Given the description of an element on the screen output the (x, y) to click on. 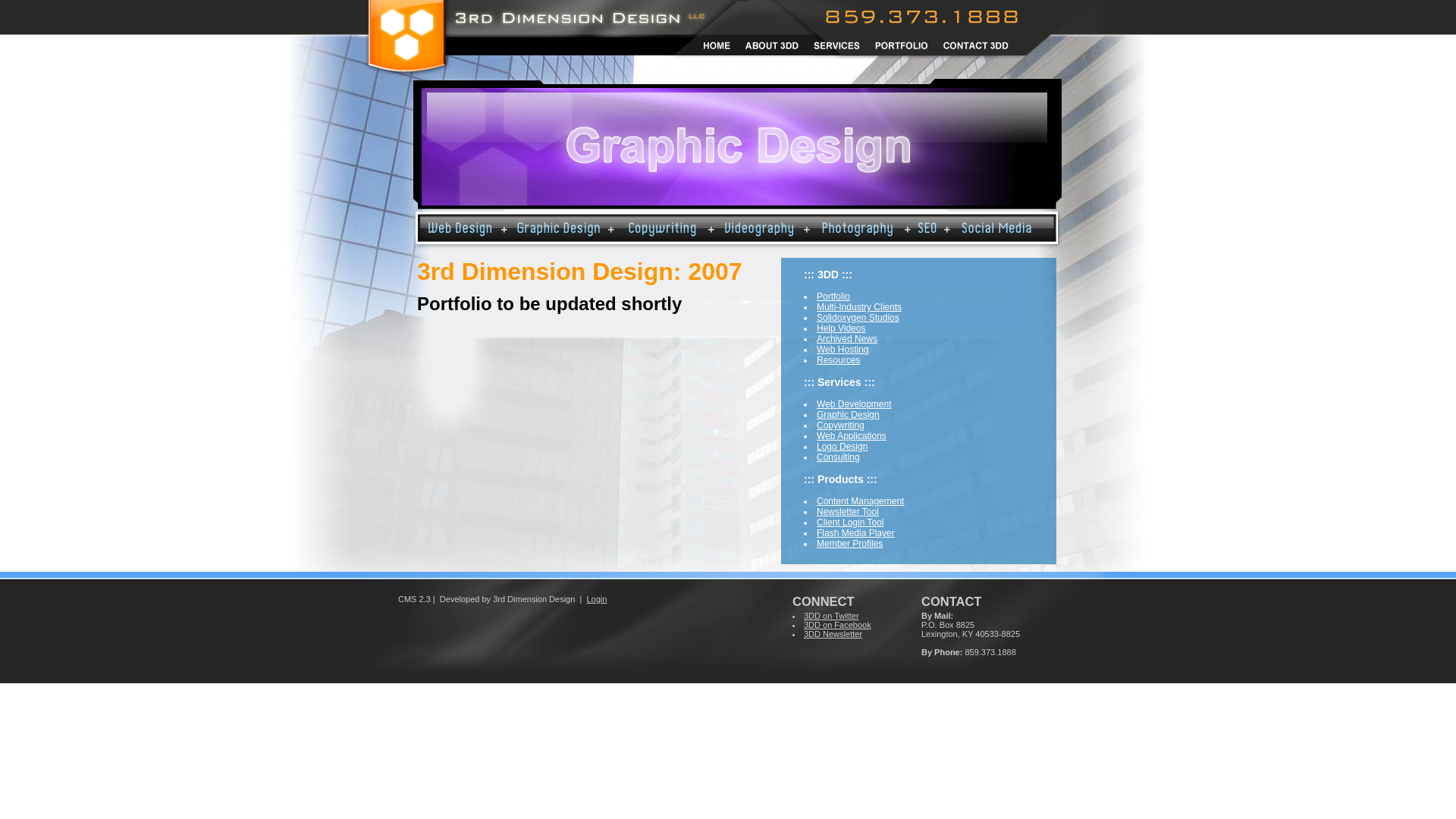
Client Login Tool Element type: text (850, 522)
3DD Newsletter Element type: text (832, 633)
Portfolio Element type: text (833, 296)
Content Management Element type: text (859, 500)
Help Videos Element type: text (841, 328)
Archived News Element type: text (846, 338)
Web Development Element type: text (853, 403)
Consulting Element type: text (837, 456)
Web Applications Element type: text (851, 435)
Member Profiles Element type: text (849, 543)
Copywriting Element type: text (840, 425)
Solidoxygen Studios Element type: text (857, 317)
Resources Element type: text (837, 359)
3DD on Facebook Element type: text (837, 624)
Newsletter Tool Element type: text (847, 511)
Web Hosting Element type: text (842, 349)
3DD on Twitter Element type: text (831, 615)
Multi-Industry Clients Element type: text (858, 306)
Flash Media Player Element type: text (855, 532)
Graphic Design Element type: text (847, 414)
Logo Design Element type: text (841, 446)
Login Element type: text (596, 598)
